Given the description of an element on the screen output the (x, y) to click on. 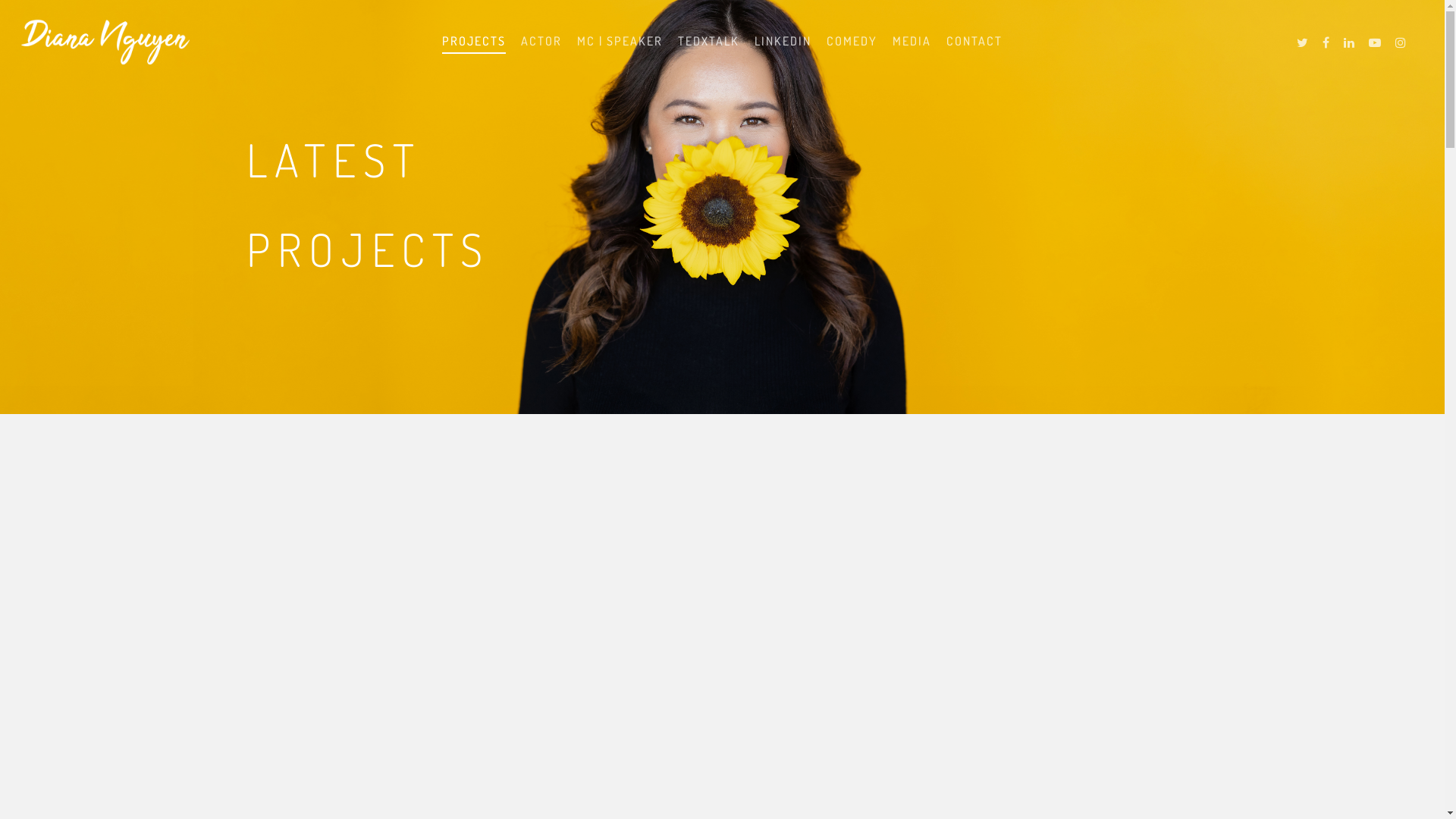
PROJECTS Element type: text (473, 49)
ACTOR Element type: text (540, 49)
LINKEDIN Element type: text (782, 49)
COMEDY Element type: text (851, 49)
MEDIA Element type: text (911, 49)
CONTACT Element type: text (974, 49)
MC | SPEAKER Element type: text (619, 49)
TEDXTALK Element type: text (708, 49)
